Given the description of an element on the screen output the (x, y) to click on. 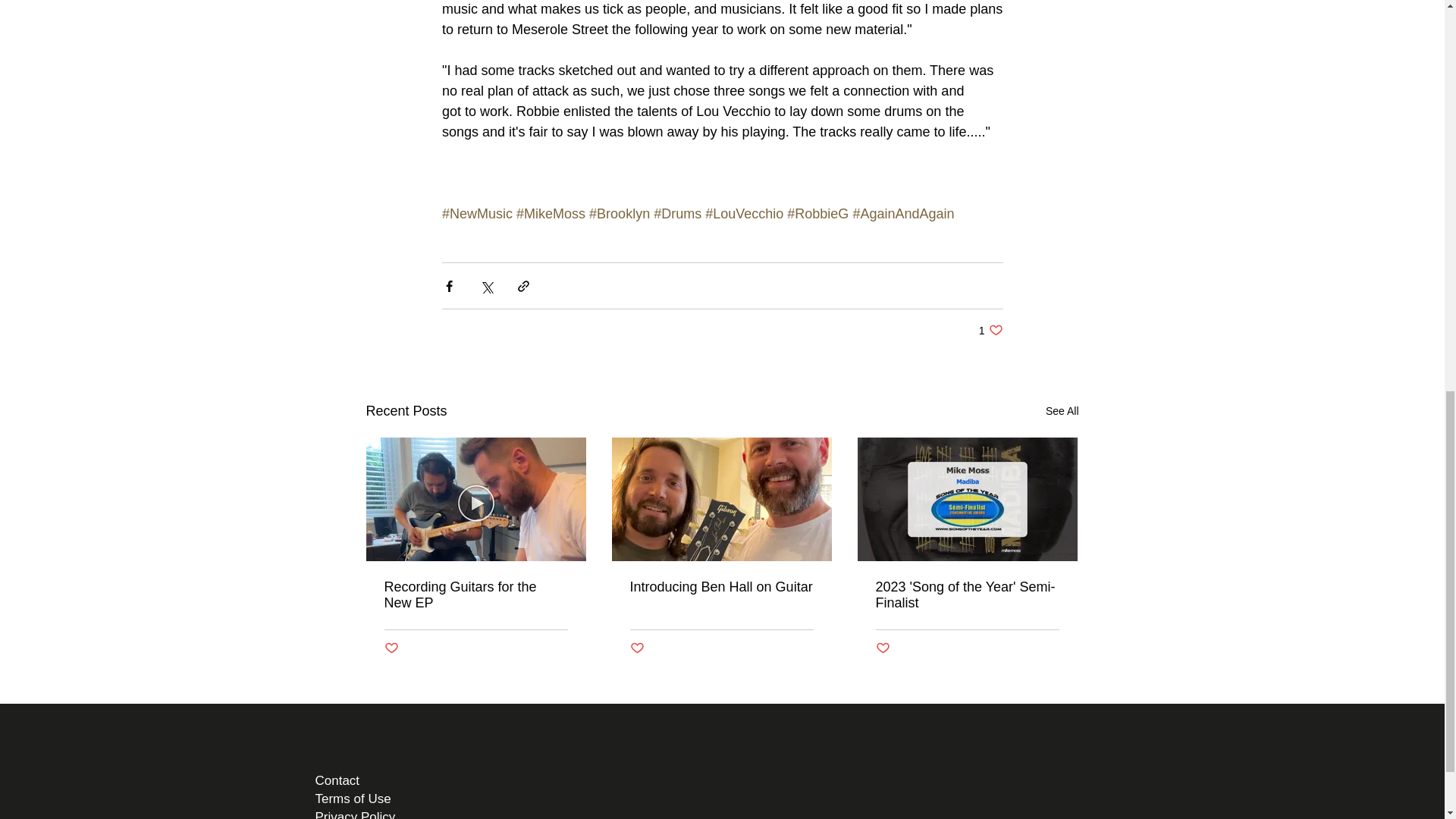
Terms of Use (353, 798)
Post not marked as liked (390, 648)
Post not marked as liked (635, 648)
2023 'Song of the Year' Semi-Finalist (966, 594)
Post not marked as liked (882, 648)
See All (990, 329)
Introducing Ben Hall on Guitar (1061, 411)
Privacy Policy (720, 587)
Recording Guitars for the New EP (355, 814)
Contact (475, 594)
